Given the description of an element on the screen output the (x, y) to click on. 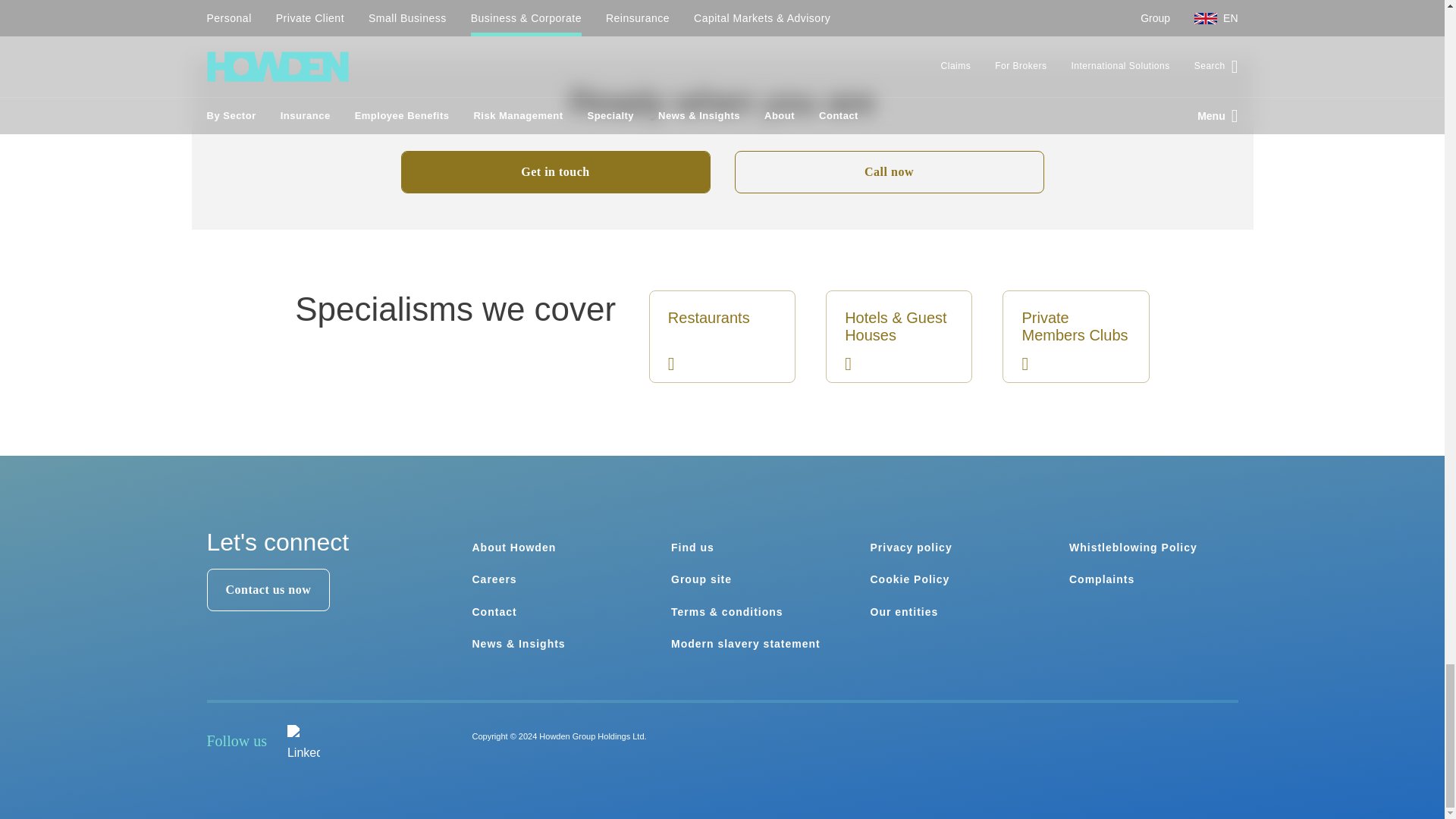
Contact  (493, 612)
Careers (493, 579)
Cookie Policy (910, 579)
Privacy policy (911, 547)
Find us (692, 547)
Complaints (1101, 579)
About Howden (513, 547)
Modern slavery statement (746, 644)
Group site (701, 579)
Our entities (904, 612)
